Given the description of an element on the screen output the (x, y) to click on. 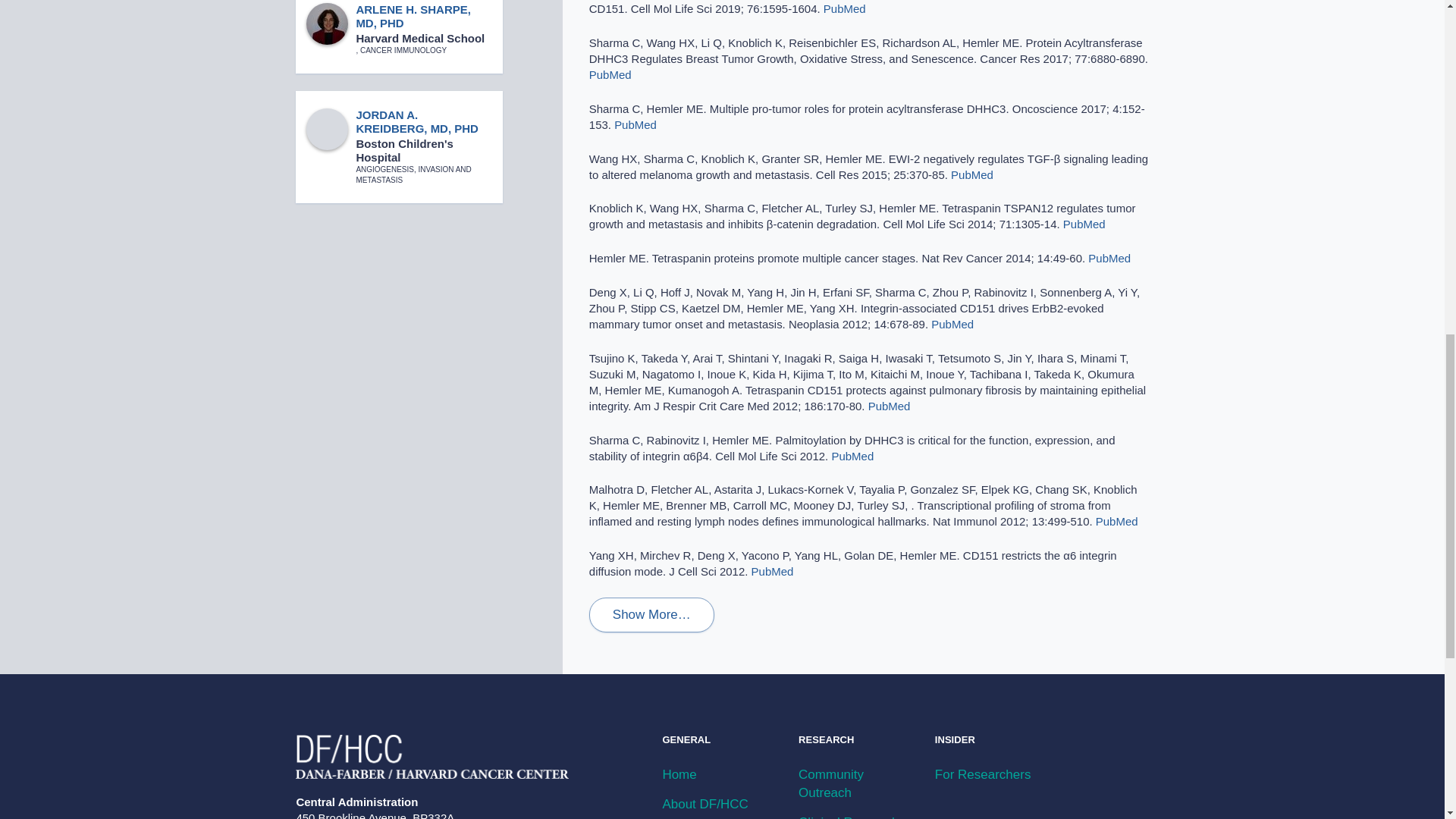
PubMed (1117, 521)
PubMed (852, 455)
PubMed (610, 74)
PubMed (889, 405)
PubMed (845, 8)
PubMed (1109, 257)
PubMed (772, 571)
PubMed (952, 323)
PubMed (635, 124)
PubMed (1083, 223)
PubMed (971, 174)
